Given the description of an element on the screen output the (x, y) to click on. 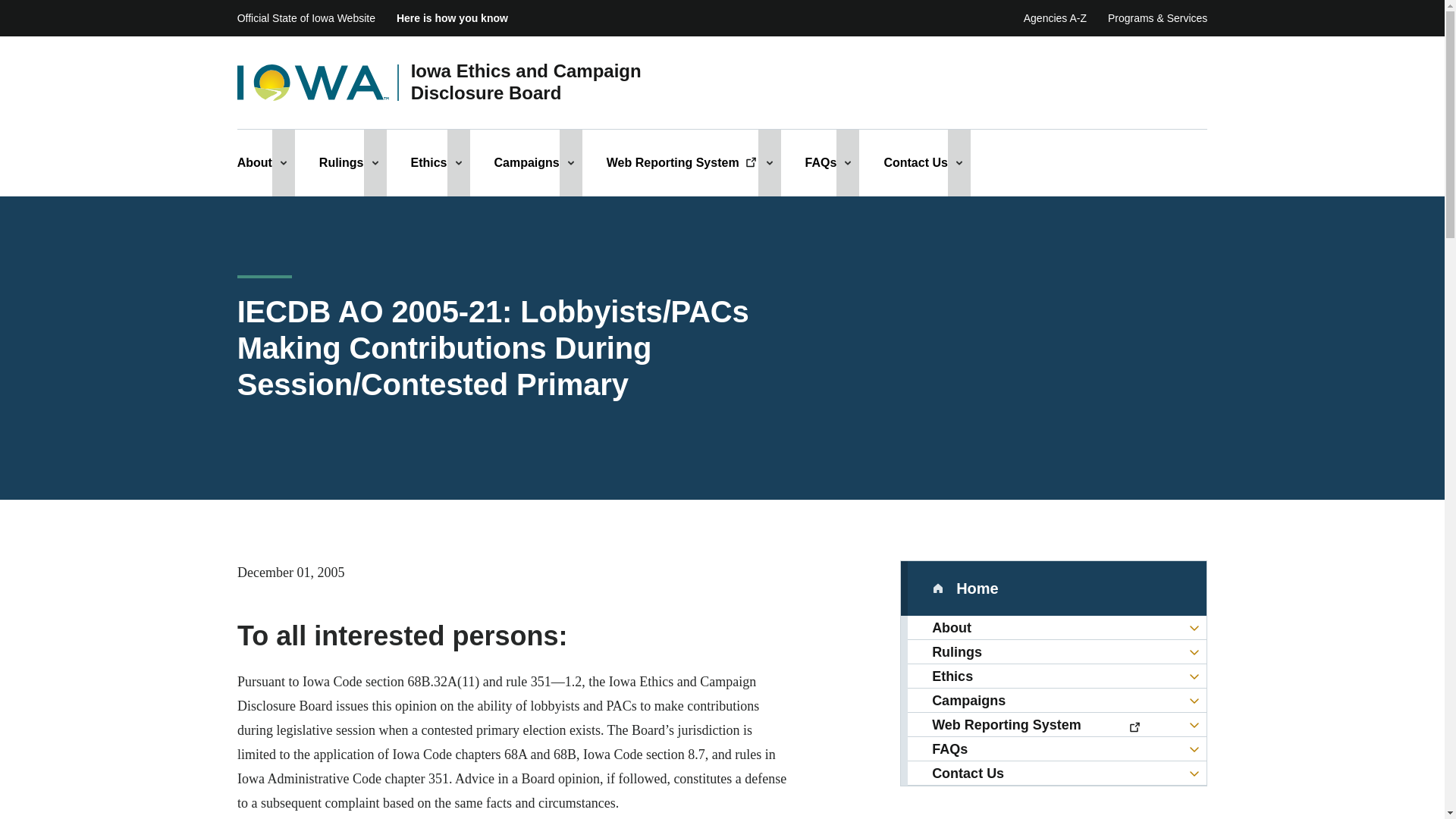
Ethics sub-navigation (458, 162)
About (254, 162)
Agencies A-Z (1054, 18)
About sub-navigation (283, 162)
Campaigns (527, 162)
Campaigns sub-navigation (570, 162)
Rulings (341, 162)
Rulings sub-navigation (375, 162)
Ethics (428, 162)
Here is how you know (452, 18)
Iowa Ethics and Campaign Disclosure Board (556, 82)
